Given the description of an element on the screen output the (x, y) to click on. 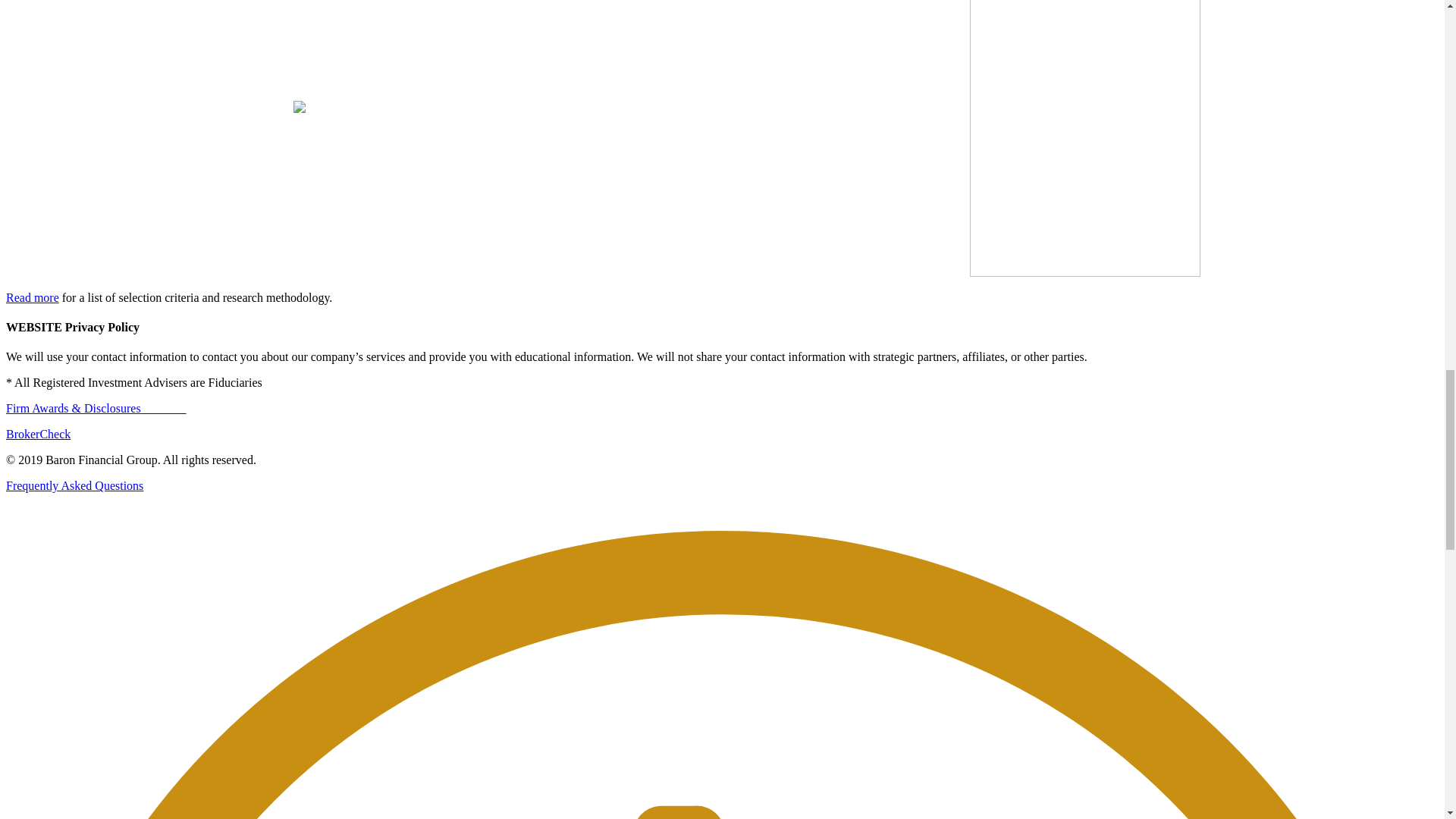
Read more (32, 297)
Frequently Asked Questions (73, 485)
BrokerCheck (37, 433)
